Given the description of an element on the screen output the (x, y) to click on. 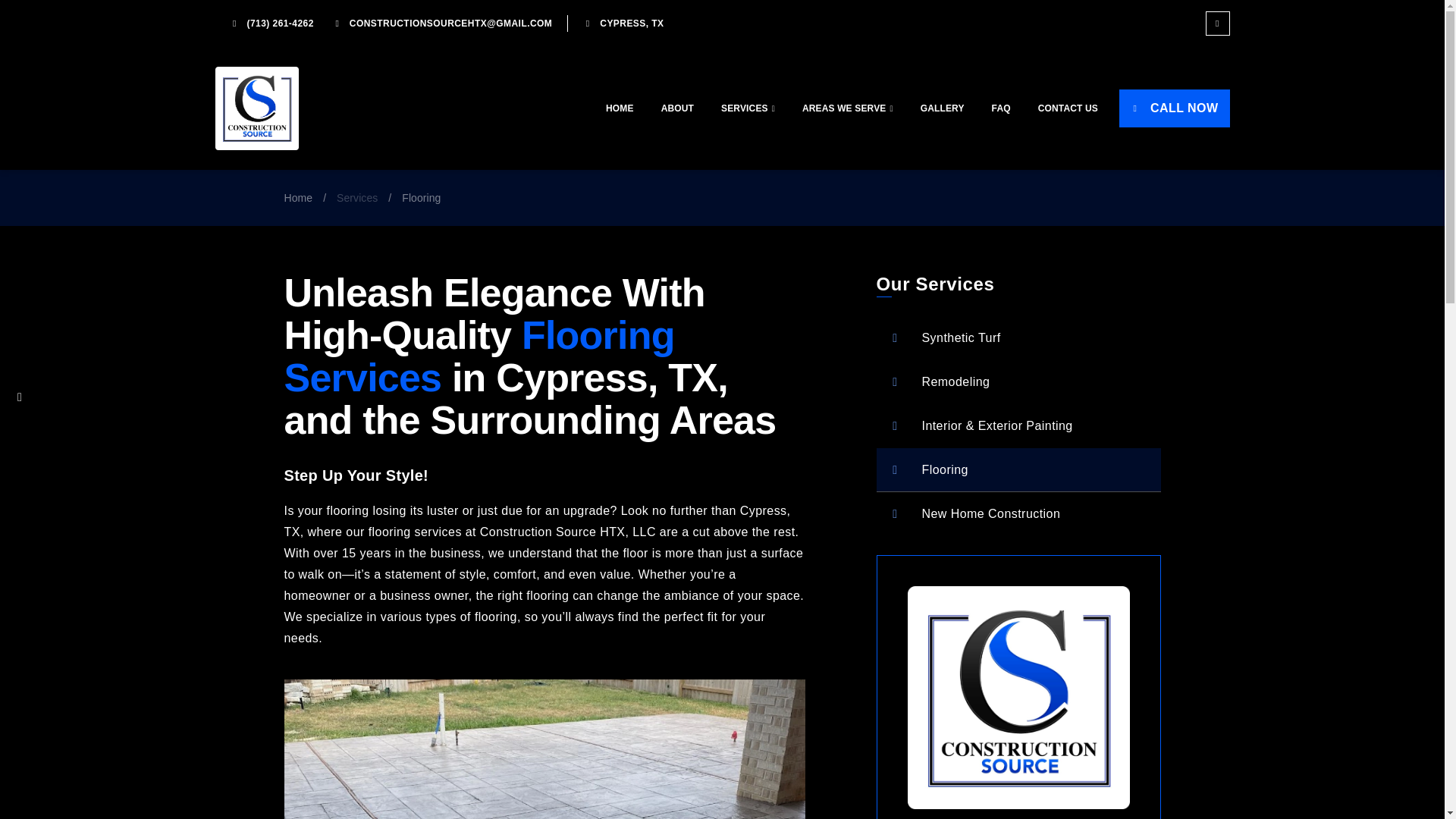
Home (298, 198)
outdoor construction of a beige house (544, 749)
Remodeling (1018, 382)
FAQ (1001, 108)
Services (356, 198)
CYPRESS, TX (621, 23)
Flooring (1018, 469)
AREAS WE SERVE (848, 108)
Synthetic Turf (1018, 338)
GALLERY (942, 108)
HOME (619, 108)
SERVICES (748, 108)
CALL NOW (1173, 108)
CONTACT US (1068, 108)
ABOUT (677, 108)
